Given the description of an element on the screen output the (x, y) to click on. 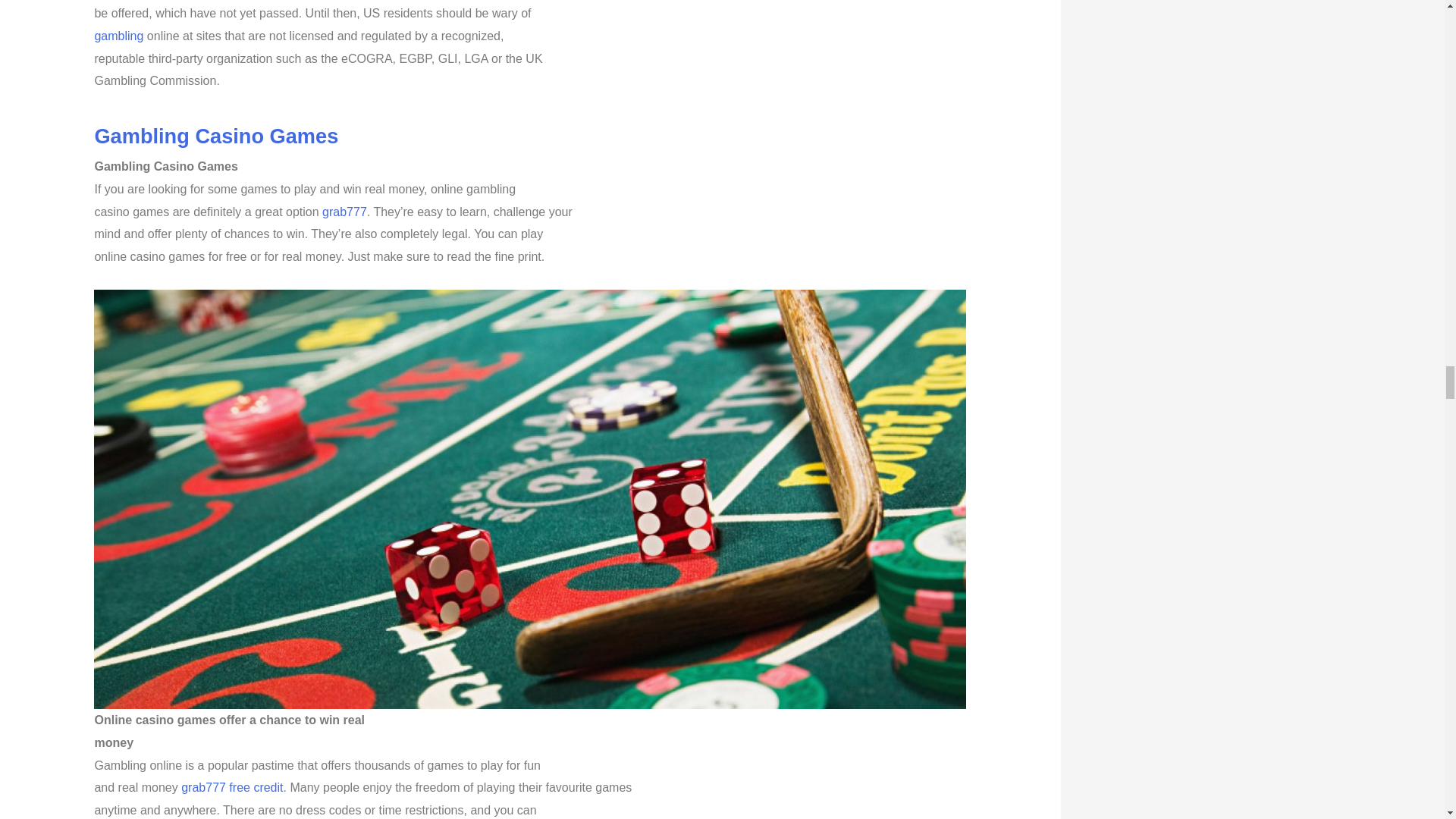
grab777 free credit (231, 787)
Gambling Casino Games (215, 136)
gambling (118, 35)
grab777 (343, 210)
